Given the description of an element on the screen output the (x, y) to click on. 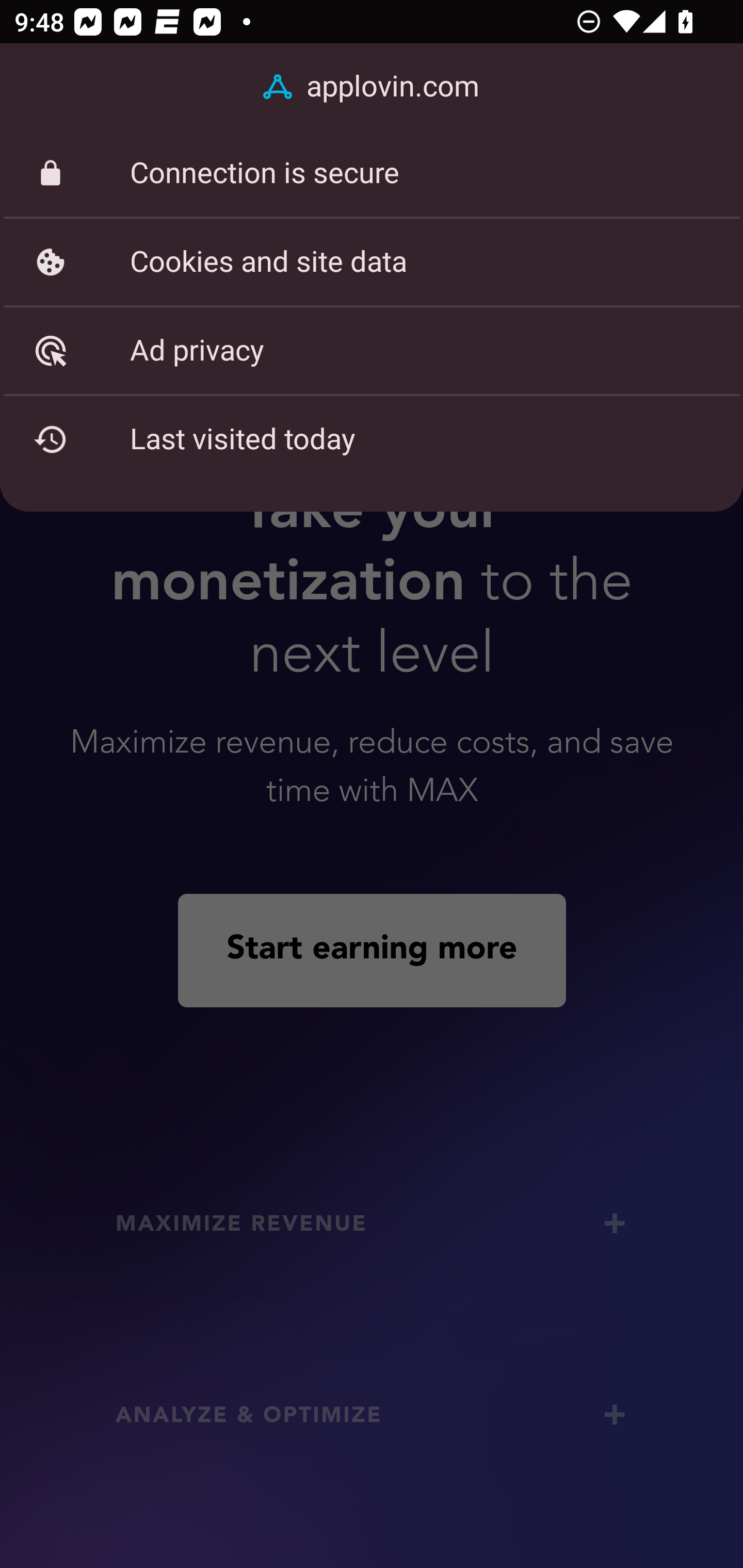
applovin.com (371, 86)
Connection is secure (371, 173)
Cookies and site data (371, 261)
Ad privacy (371, 350)
Last visited today (371, 439)
